Given the description of an element on the screen output the (x, y) to click on. 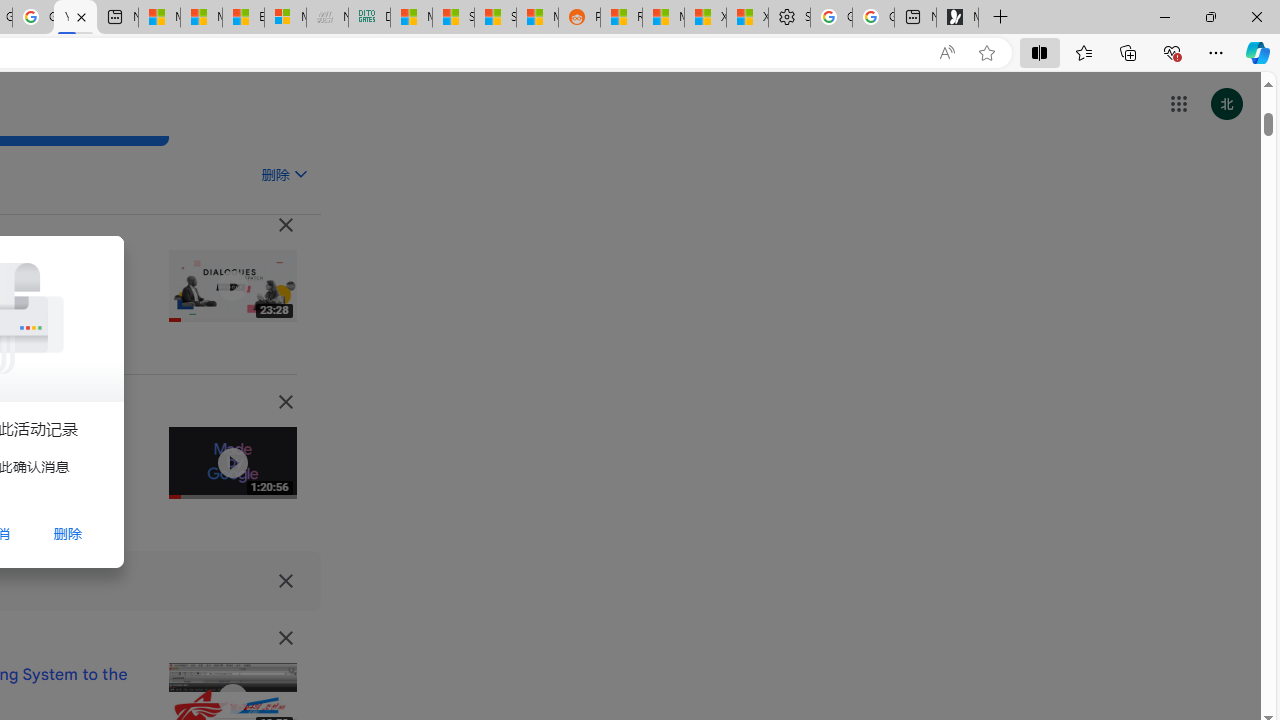
R******* | Trusted Community Engagement and Contributions (621, 17)
Class: IVR0f NMm5M (231, 699)
Entertainment - MSN (242, 17)
